Given the description of an element on the screen output the (x, y) to click on. 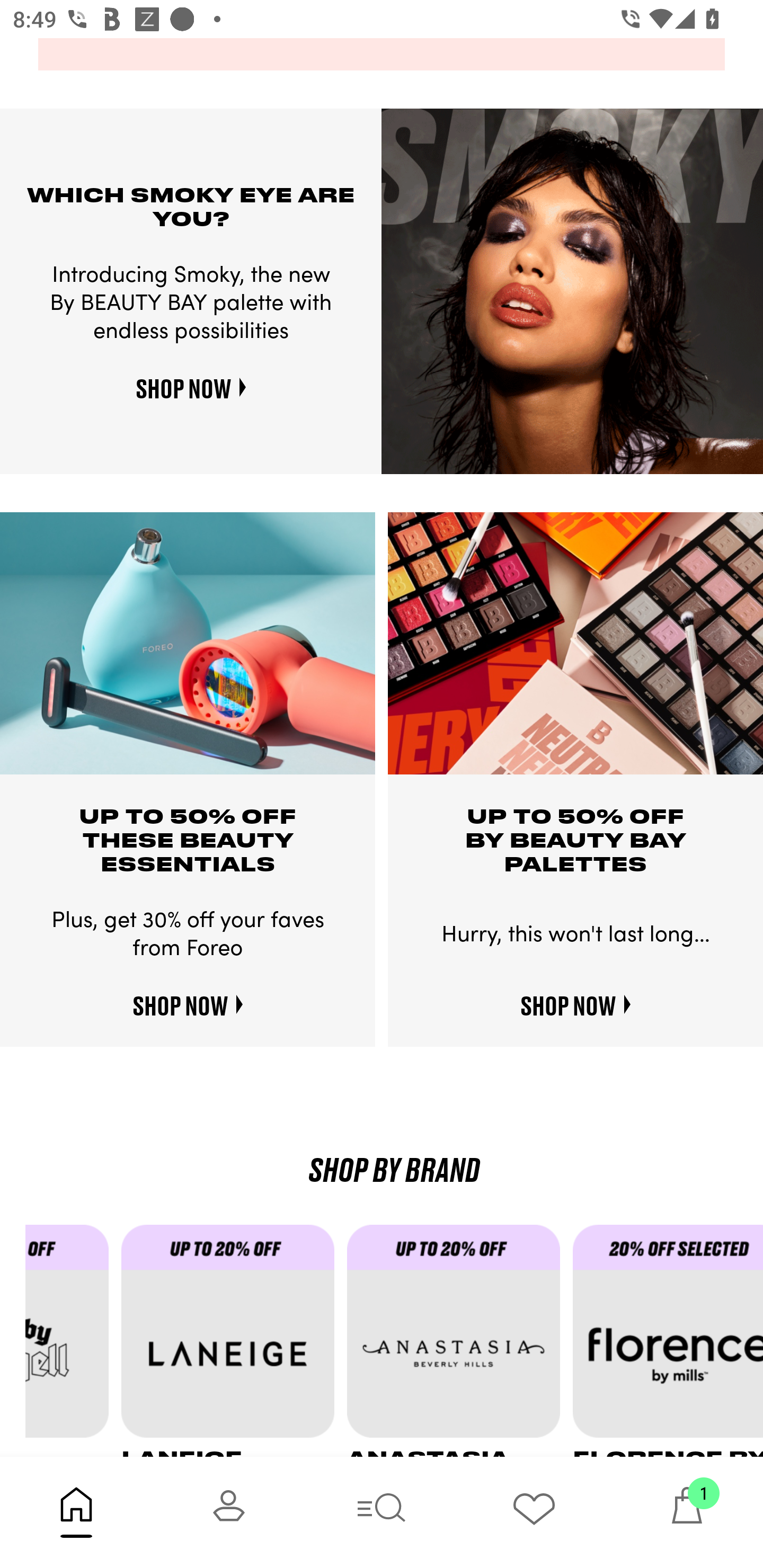
LANEIGE (234, 1340)
ANASTASIA BEVERLY HILLS (460, 1340)
FLORENCE BY MILLS (668, 1340)
1 (686, 1512)
